Given the description of an element on the screen output the (x, y) to click on. 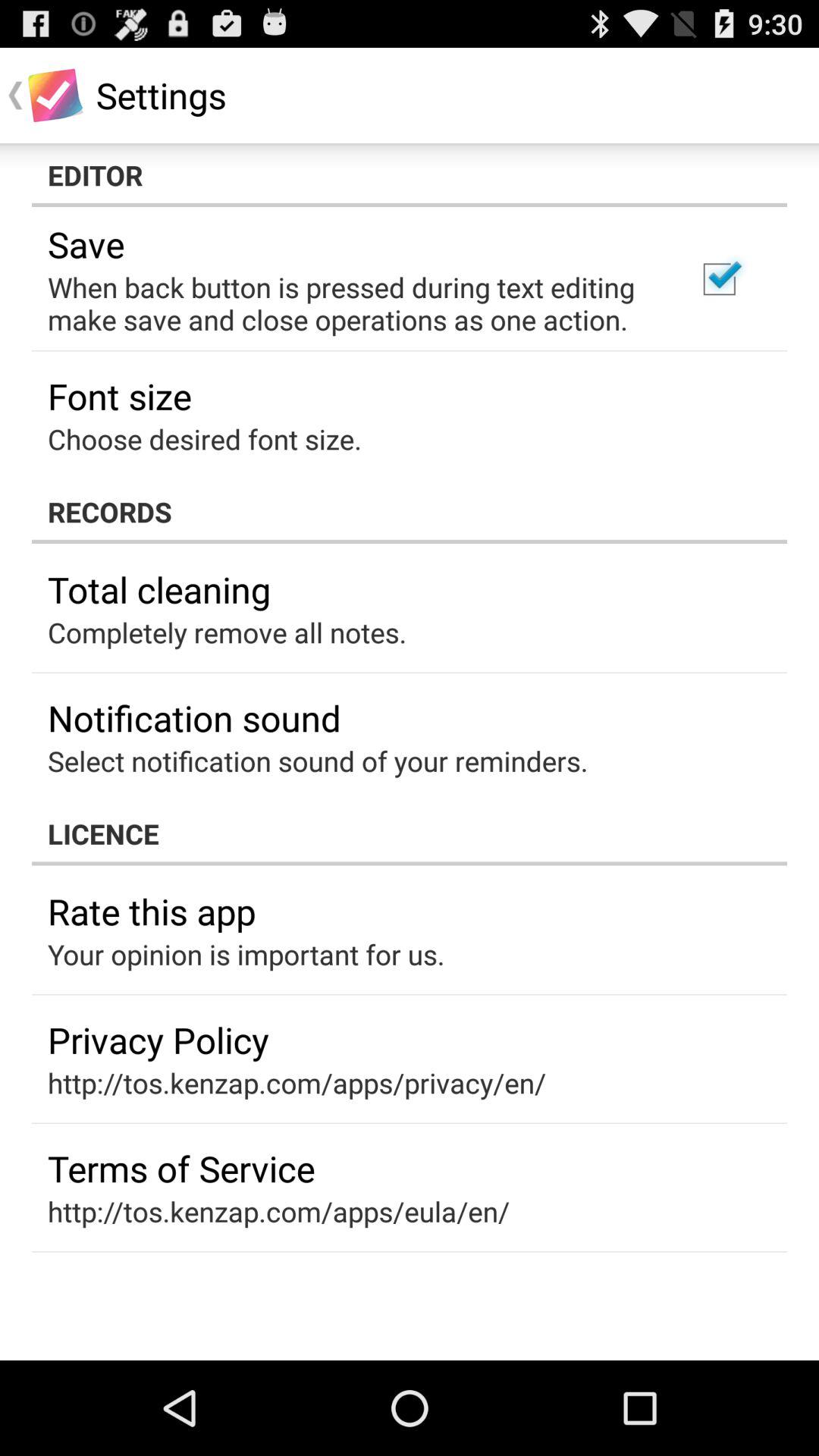
turn on the app above the rate this app app (409, 833)
